Given the description of an element on the screen output the (x, y) to click on. 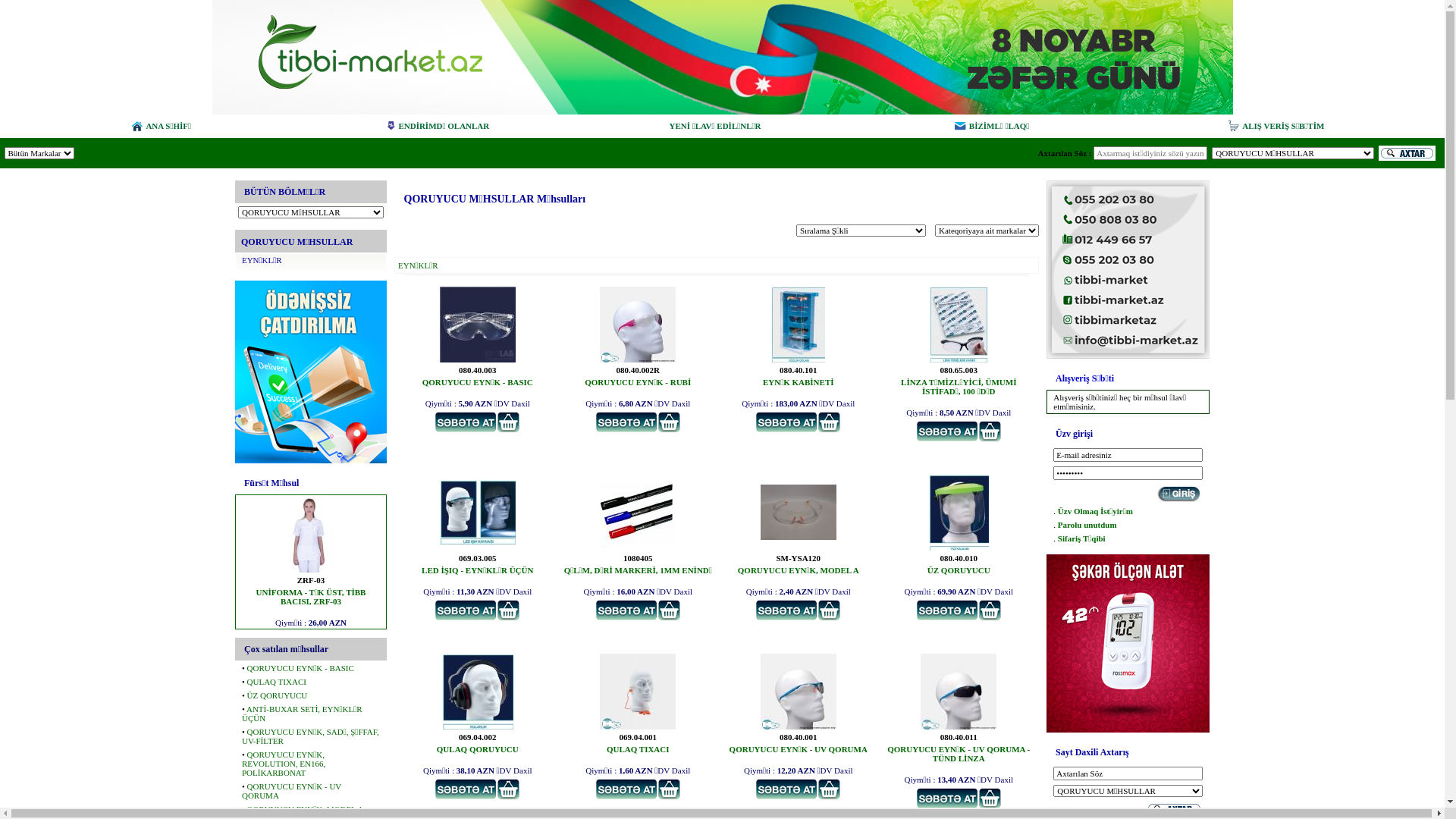
Parolu unutdum Element type: text (1087, 524)
QULAQ TIXACI			 Element type: hover (637, 726)
QULAQ TIXACI Element type: text (637, 748)
QULAQ QORUYUCU Element type: text (477, 748)
QULAQ TIXACI Element type: text (276, 681)
QULAQ QORUYUCU			 Element type: hover (477, 726)
